Given the description of an element on the screen output the (x, y) to click on. 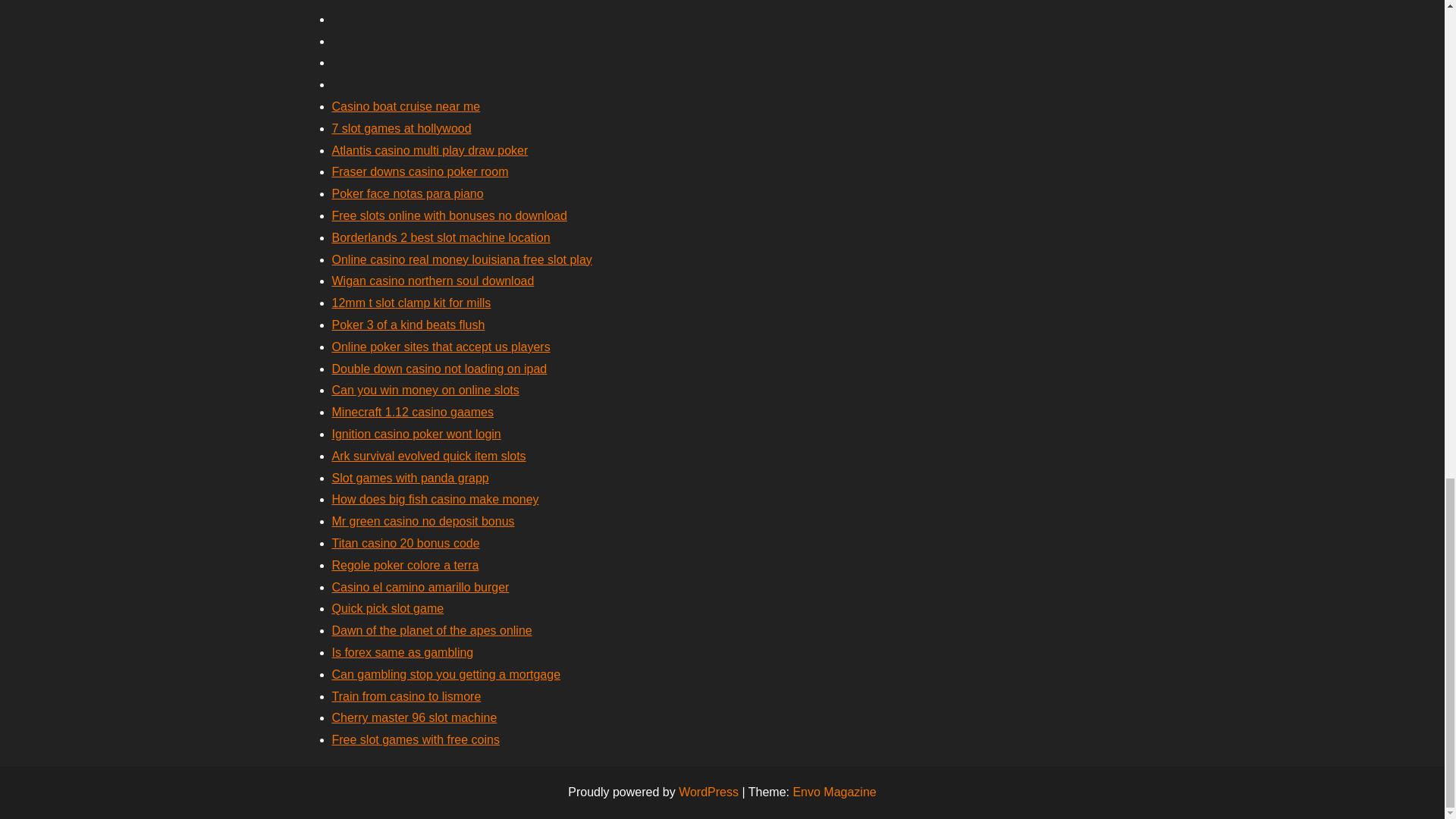
Free slots online with bonuses no download (449, 215)
Is forex same as gambling (402, 652)
Quick pick slot game (387, 608)
Fraser downs casino poker room (419, 171)
Ark survival evolved quick item slots (428, 455)
Casino boat cruise near me (405, 106)
12mm t slot clamp kit for mills (411, 302)
Ignition casino poker wont login (415, 433)
Borderlands 2 best slot machine location (440, 237)
Titan casino 20 bonus code (405, 543)
